Given the description of an element on the screen output the (x, y) to click on. 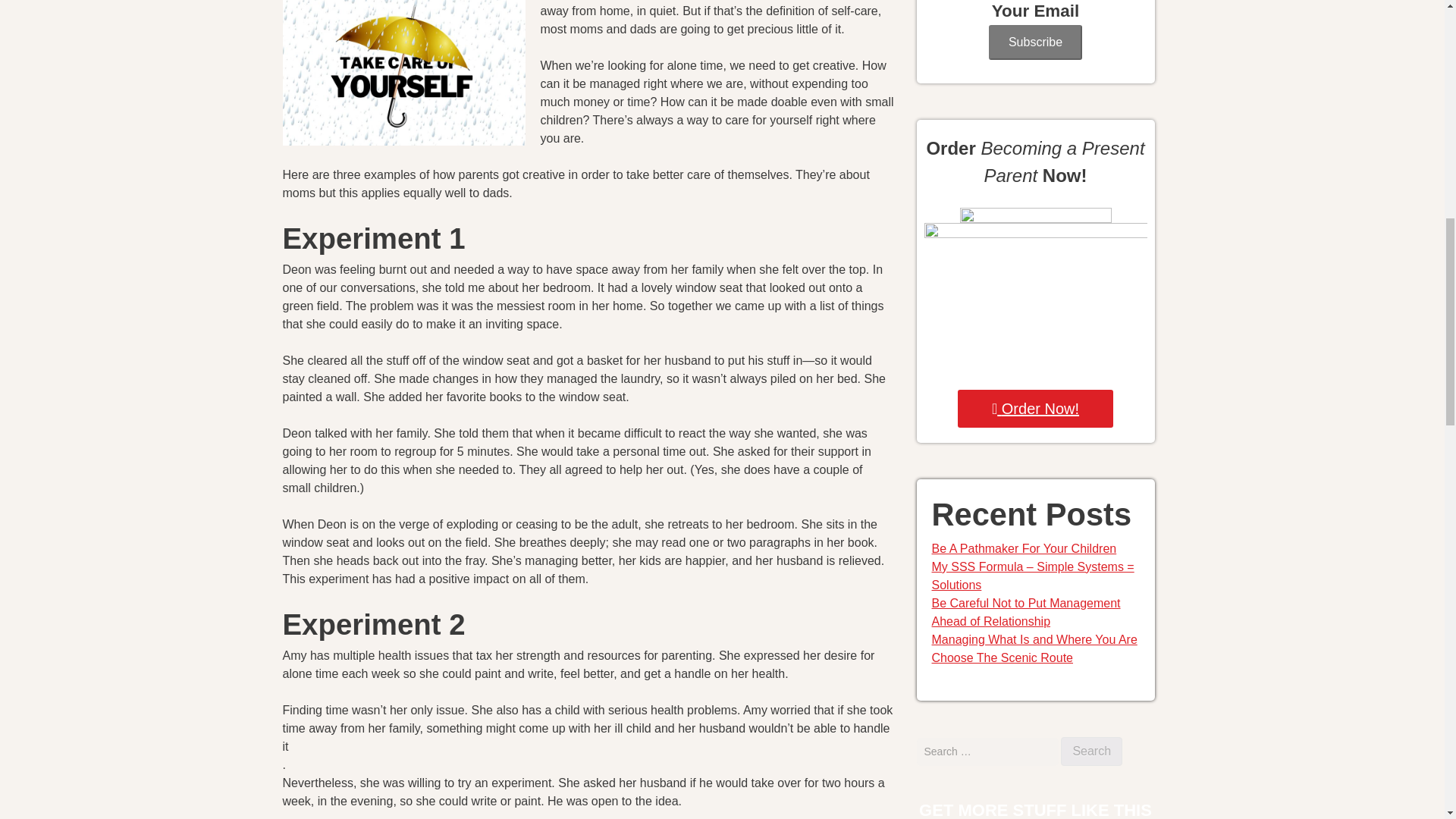
Be A Pathmaker For Your Children (1023, 548)
Subscribe (1034, 42)
Search (1091, 751)
Search (1091, 751)
Order Now! (1035, 408)
